Given the description of an element on the screen output the (x, y) to click on. 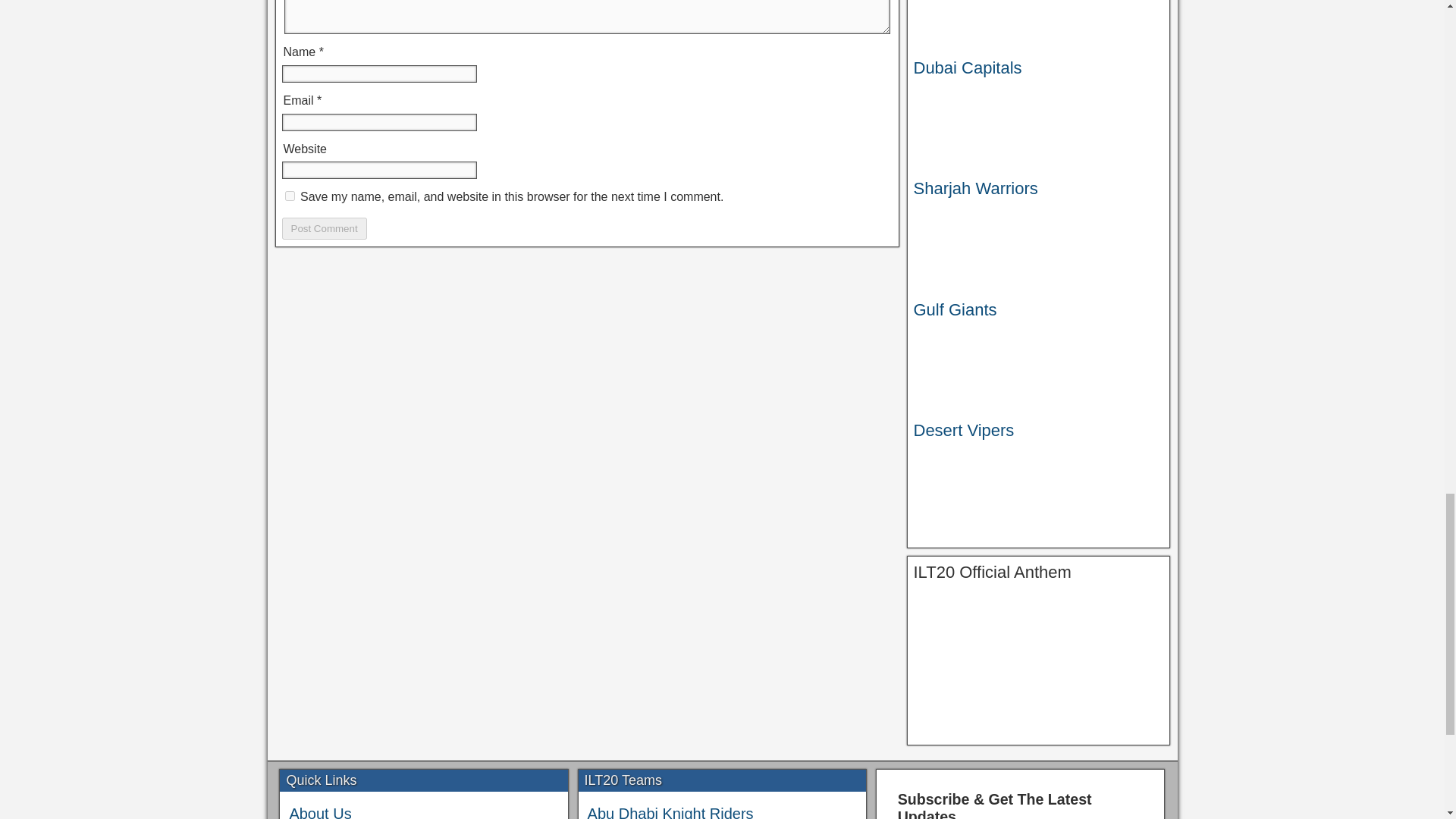
yes (290, 195)
Post Comment (324, 228)
Post Comment (324, 228)
